Given the description of an element on the screen output the (x, y) to click on. 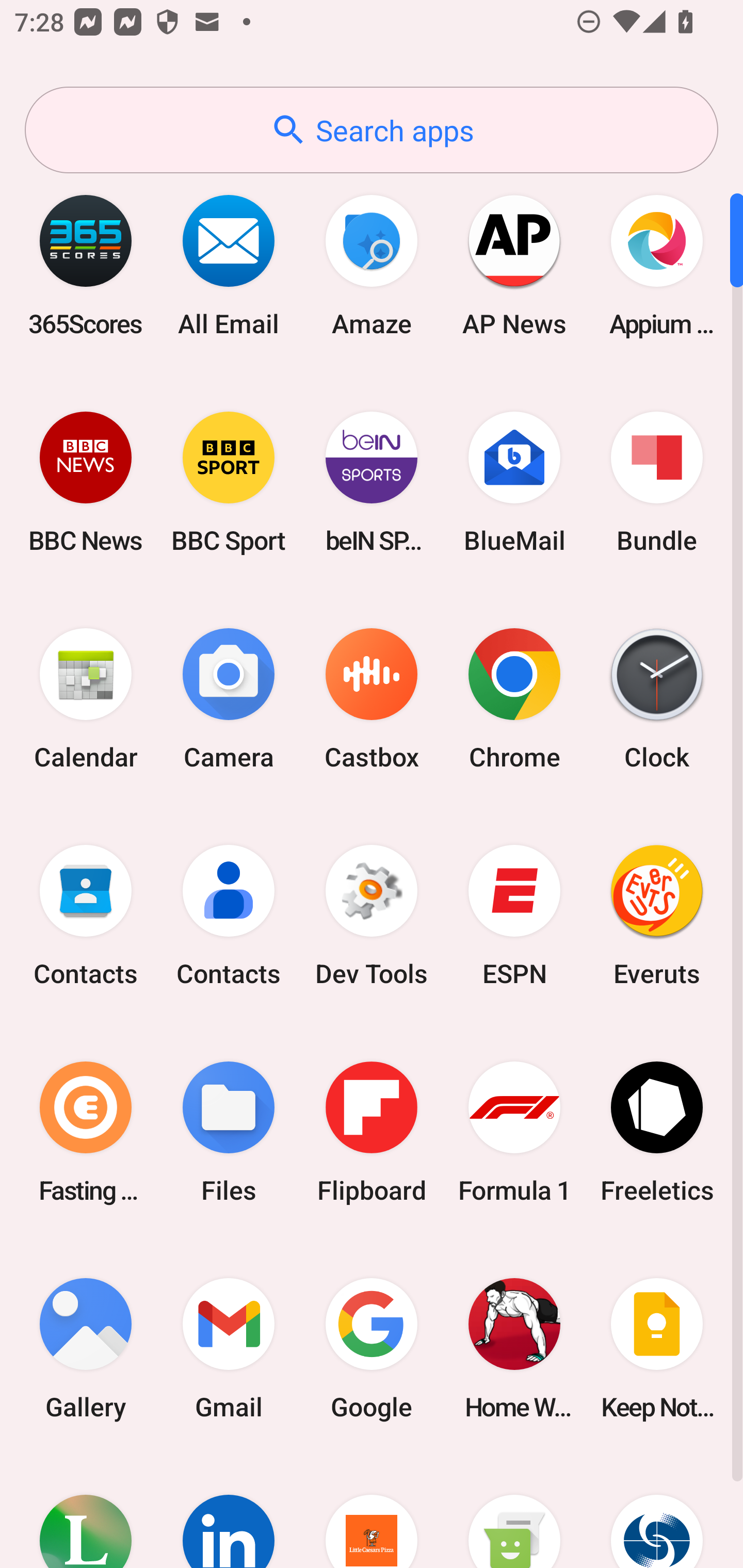
  Search apps (371, 130)
365Scores (85, 264)
All Email (228, 264)
Amaze (371, 264)
AP News (514, 264)
Appium Settings (656, 264)
BBC News (85, 482)
BBC Sport (228, 482)
beIN SPORTS (371, 482)
BlueMail (514, 482)
Bundle (656, 482)
Calendar (85, 699)
Camera (228, 699)
Castbox (371, 699)
Chrome (514, 699)
Clock (656, 699)
Contacts (85, 915)
Contacts (228, 915)
Dev Tools (371, 915)
ESPN (514, 915)
Everuts (656, 915)
Fasting Coach (85, 1131)
Files (228, 1131)
Flipboard (371, 1131)
Formula 1 (514, 1131)
Freeletics (656, 1131)
Gallery (85, 1348)
Gmail (228, 1348)
Google (371, 1348)
Home Workout (514, 1348)
Keep Notes (656, 1348)
